Given the description of an element on the screen output the (x, y) to click on. 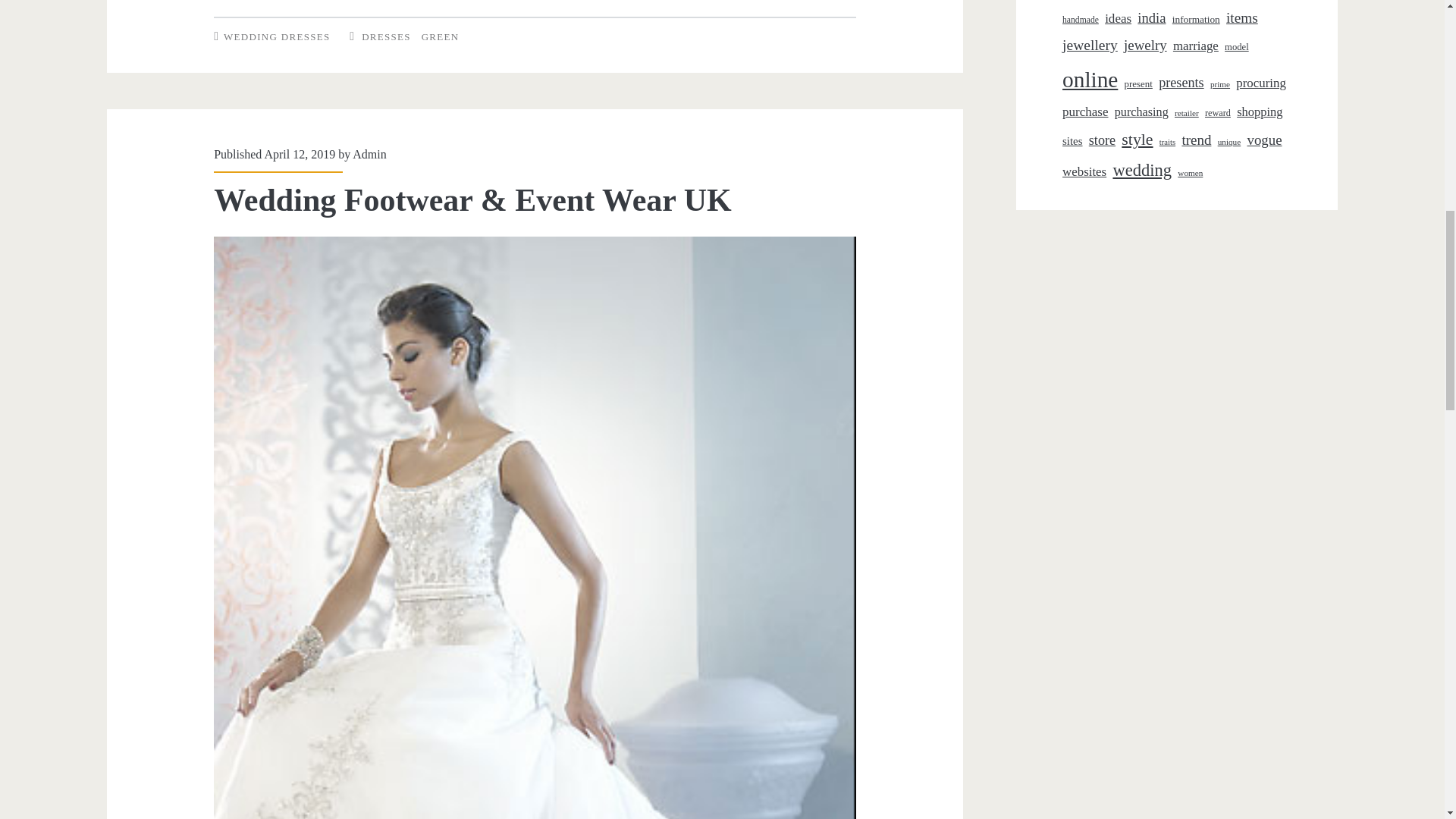
View all posts tagged dresses (385, 36)
WEDDING DRESSES (277, 36)
Posts by Admin (368, 154)
Admin (368, 154)
GREEN (441, 36)
View all posts in Wedding Dresses (277, 36)
View all posts tagged green (441, 36)
DRESSES (385, 36)
